Given the description of an element on the screen output the (x, y) to click on. 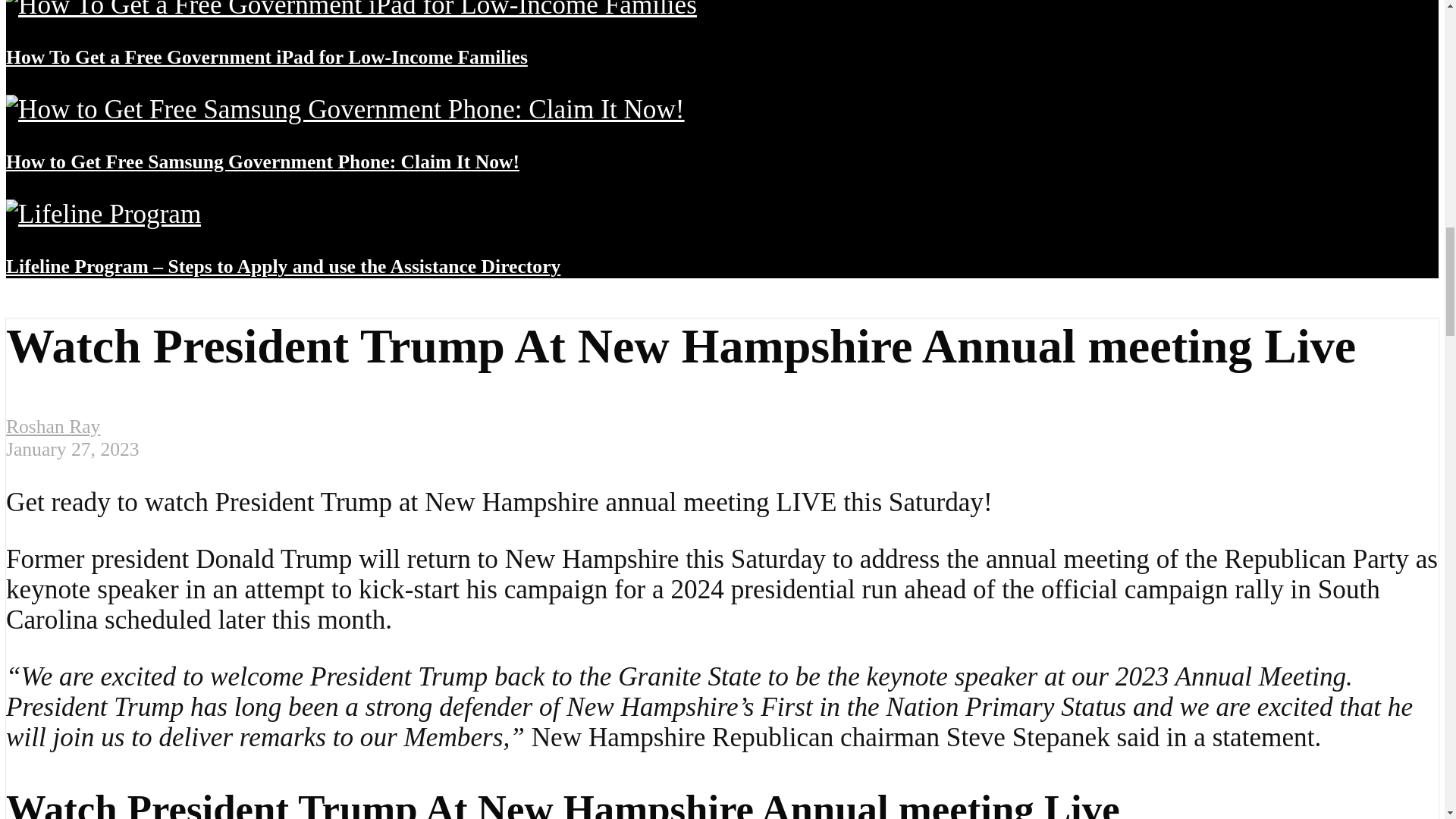
How To Get a Free Government iPad for Low-Income Families (351, 9)
How to Get Free Samsung Government Phone: Claim It Now! (344, 109)
